Given the description of an element on the screen output the (x, y) to click on. 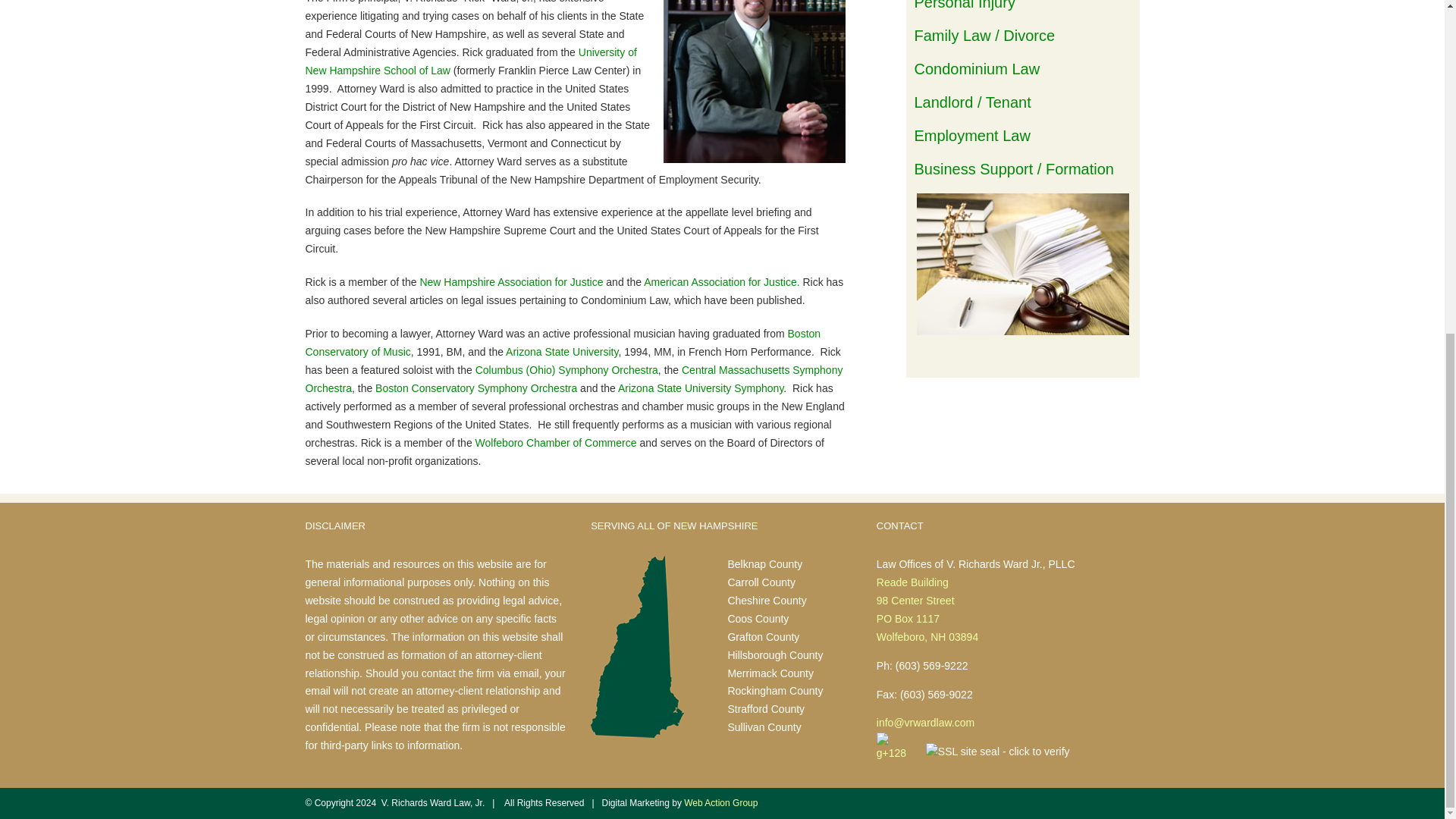
Arizona State University (561, 351)
Condominium Law (977, 68)
Wolfeboro Chamber of Commerce (556, 442)
Personal Injury (964, 5)
Boston Conservatory Symphony Orchestra (475, 387)
Boston Conservatory of Music (562, 342)
New Hampshire Association for Justice (510, 282)
Central Massachusetts Symphony Orchestra (573, 378)
Arizona State University Symphony (700, 387)
